Given the description of an element on the screen output the (x, y) to click on. 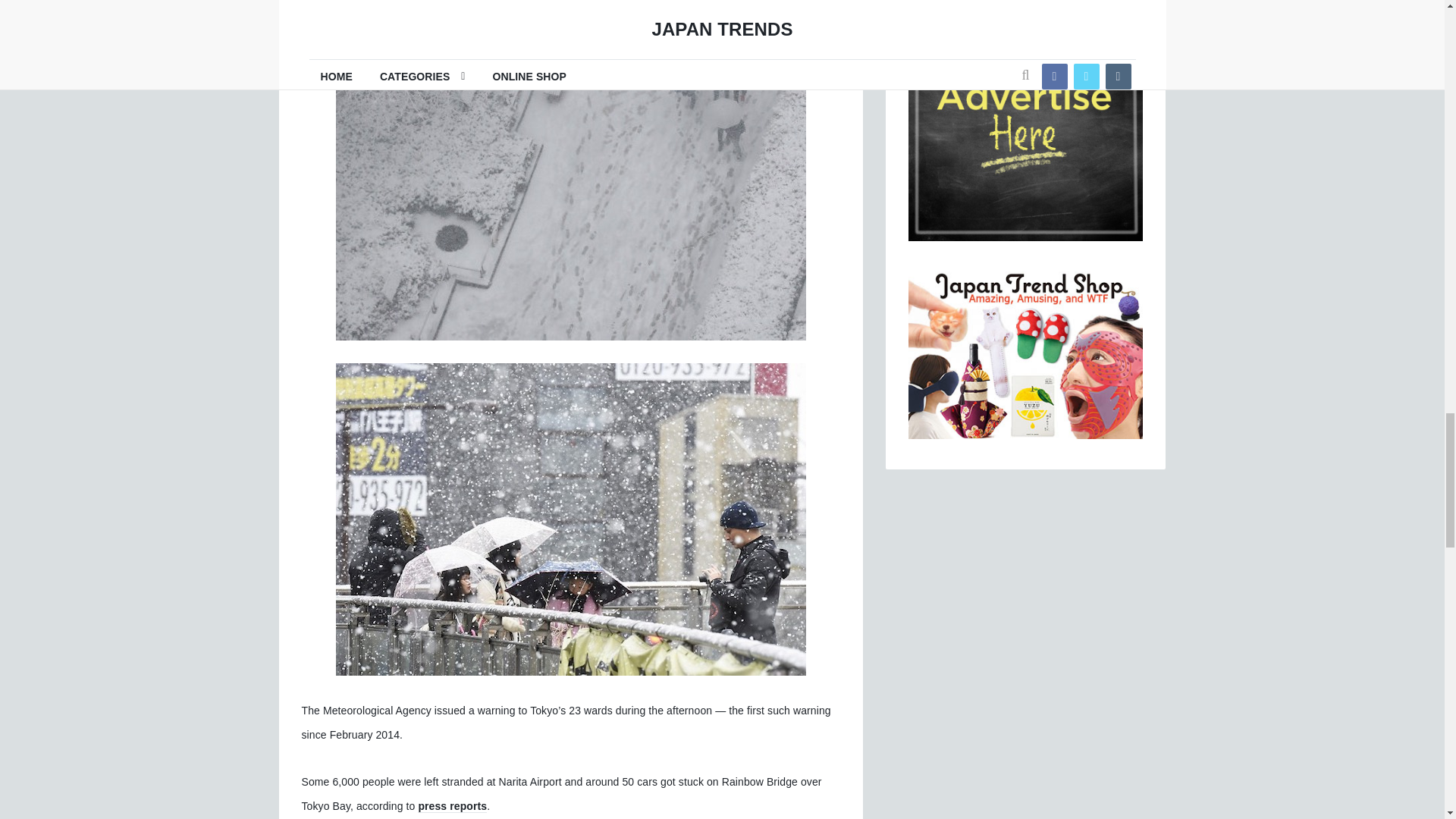
press reports (451, 806)
